Given the description of an element on the screen output the (x, y) to click on. 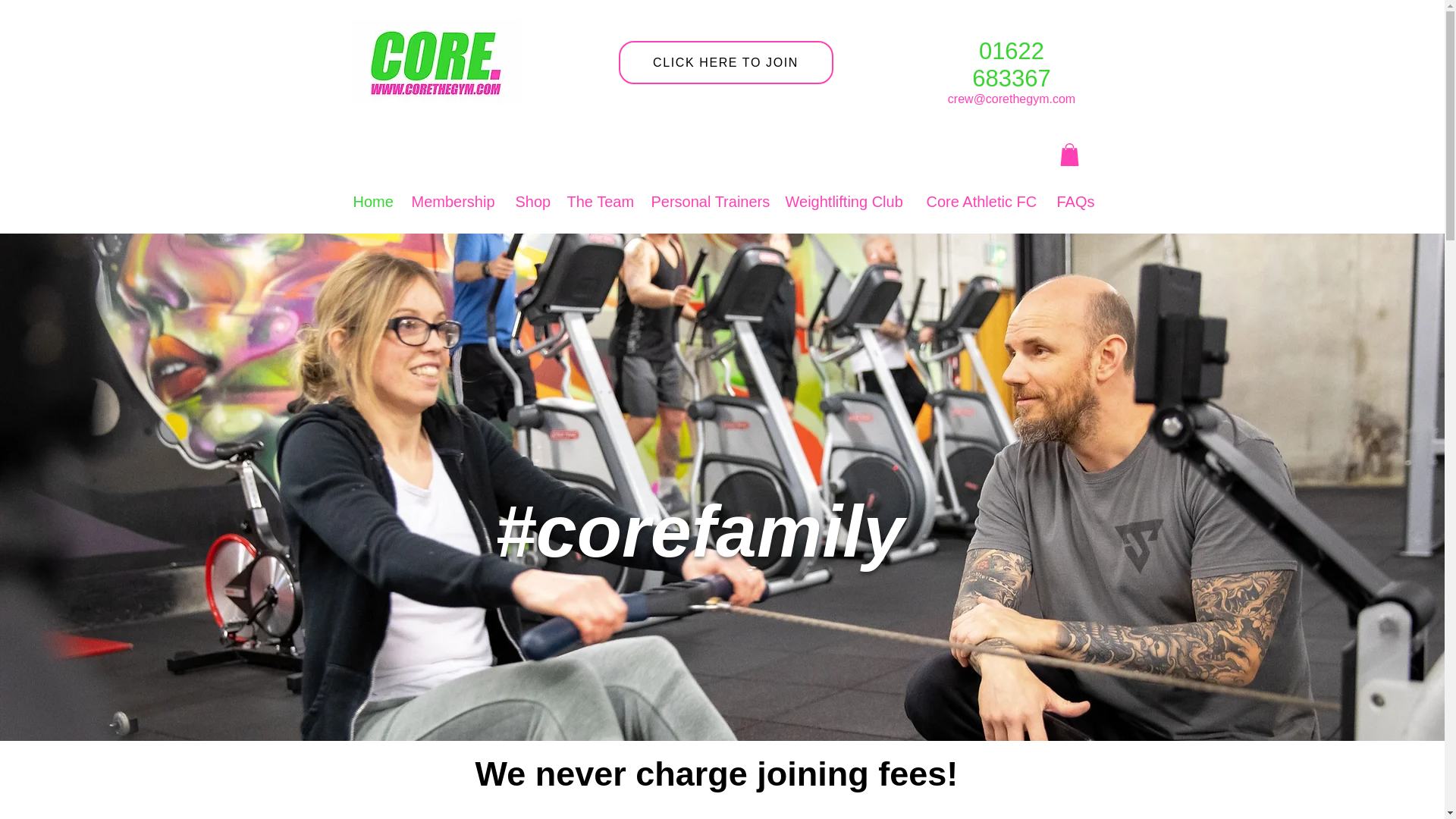
Weightlifting Club (847, 201)
CLICK HERE TO JOIN (725, 62)
Personal Trainers (710, 201)
Home (375, 201)
The Team (601, 201)
Shop (533, 201)
Membership (454, 201)
FAQs (1075, 201)
Core Athletic FC (983, 201)
